Given the description of an element on the screen output the (x, y) to click on. 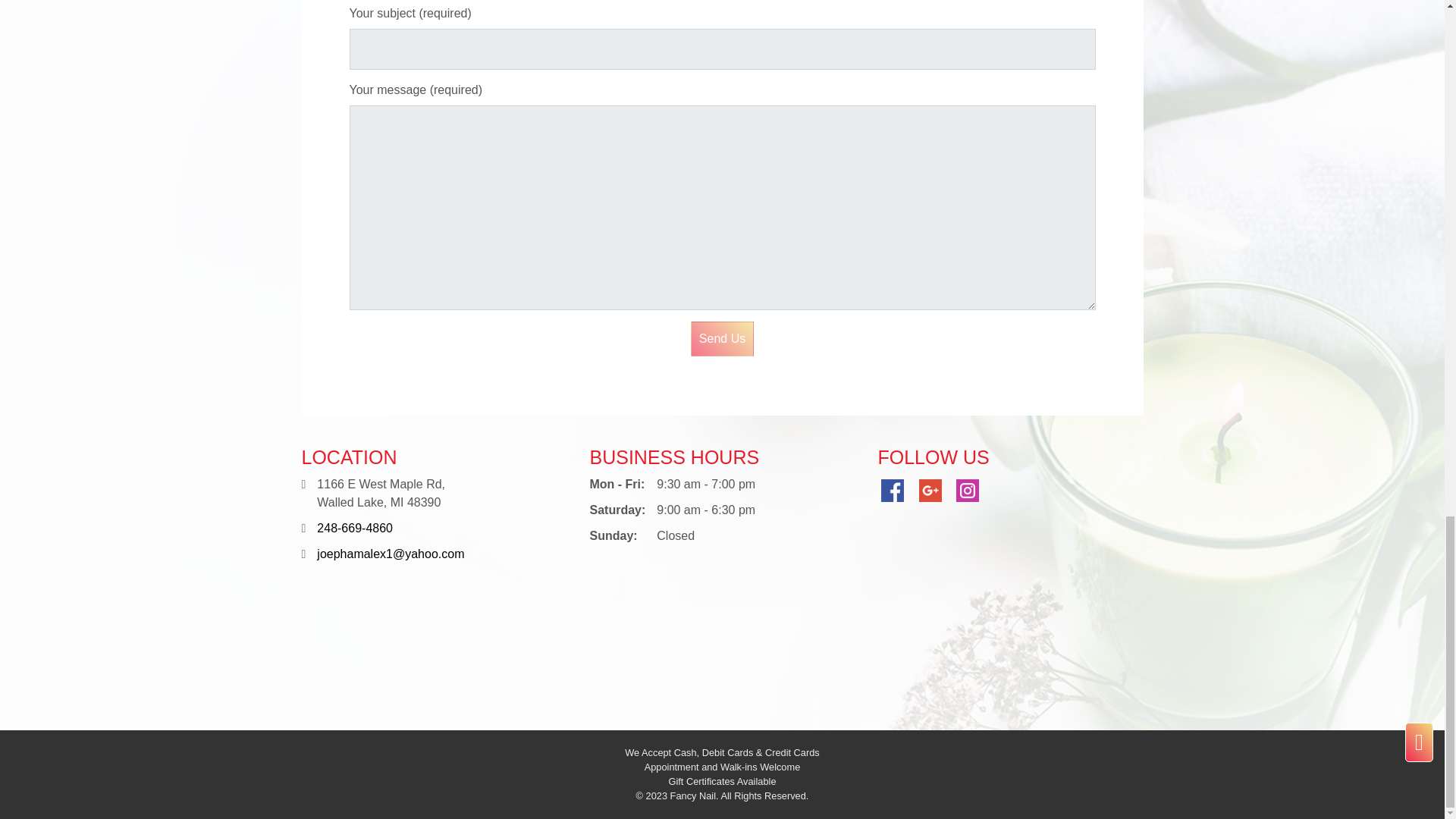
Send Us (722, 338)
Your subject (721, 48)
Call Us (355, 527)
248-669-4860 (355, 527)
